Given the description of an element on the screen output the (x, y) to click on. 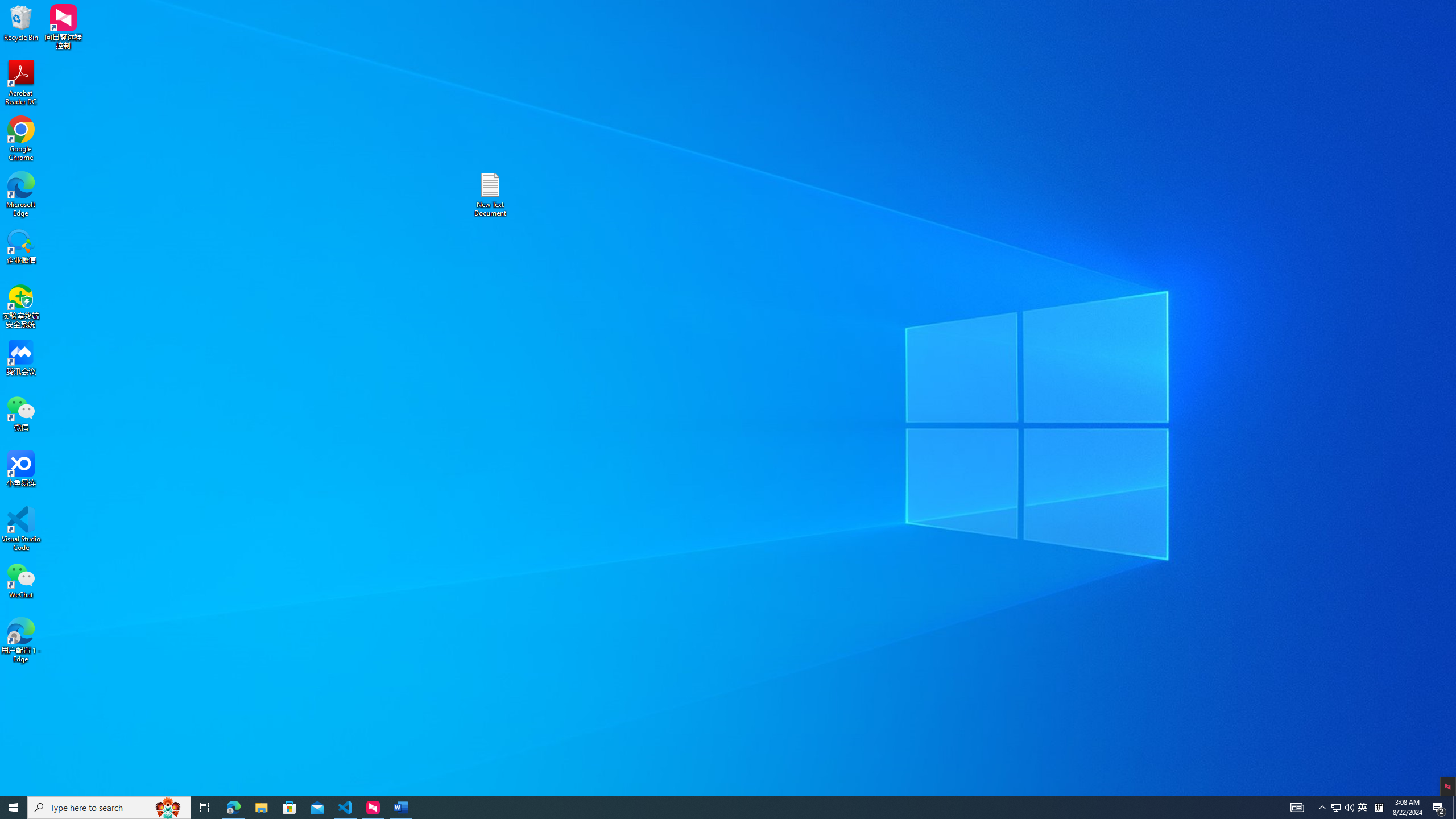
Page Number Page 1 of 1 (22, 790)
Quote (891, 56)
